Given the description of an element on the screen output the (x, y) to click on. 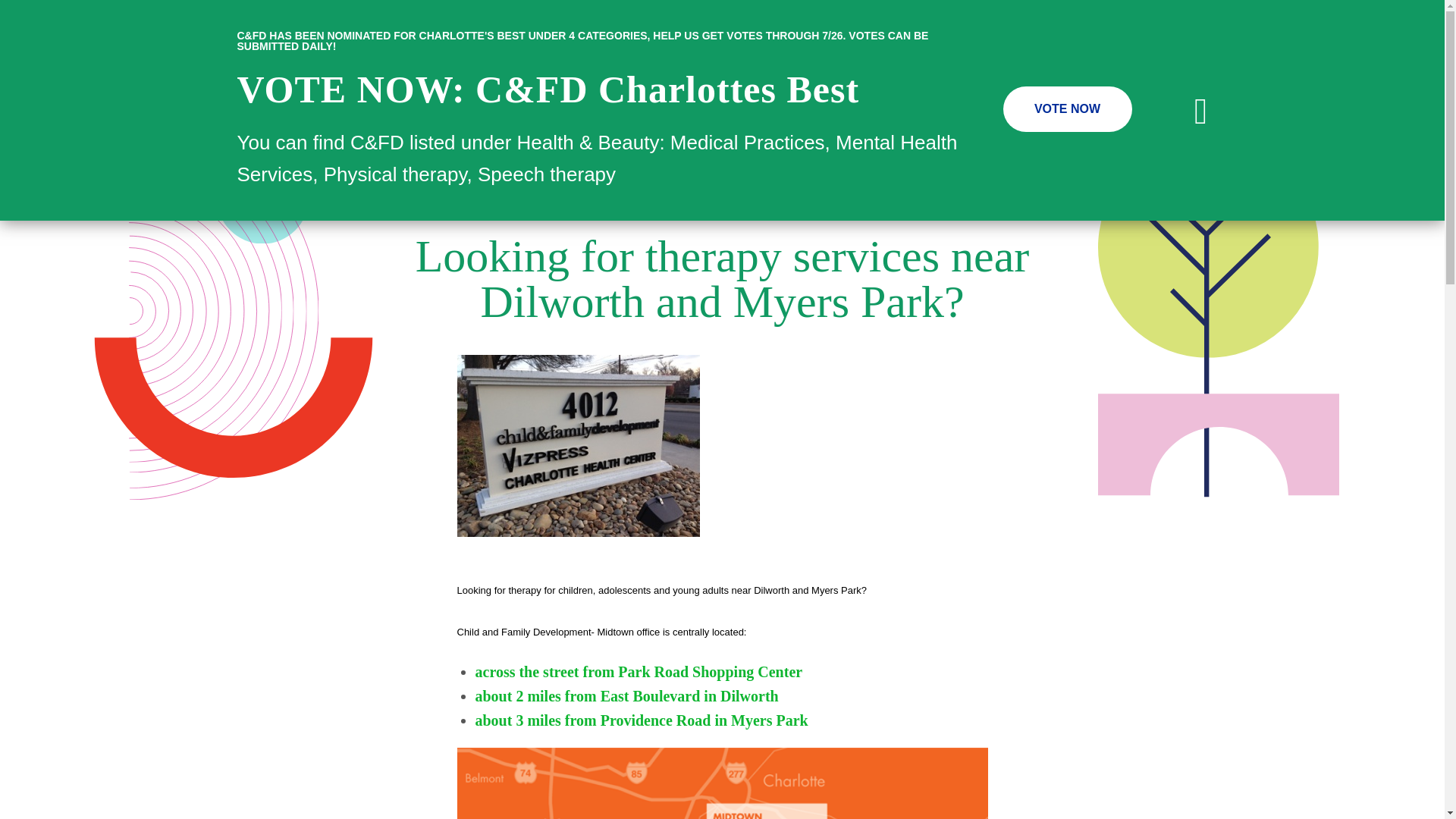
Blog (582, 71)
Services (877, 114)
Join Our Newsletter (654, 71)
For Physicians (1162, 114)
About Us (804, 114)
Join Our Team (523, 71)
Getting Started (968, 114)
Make a Payment (1171, 71)
Contact Us (740, 71)
Resources (1066, 114)
